Given the description of an element on the screen output the (x, y) to click on. 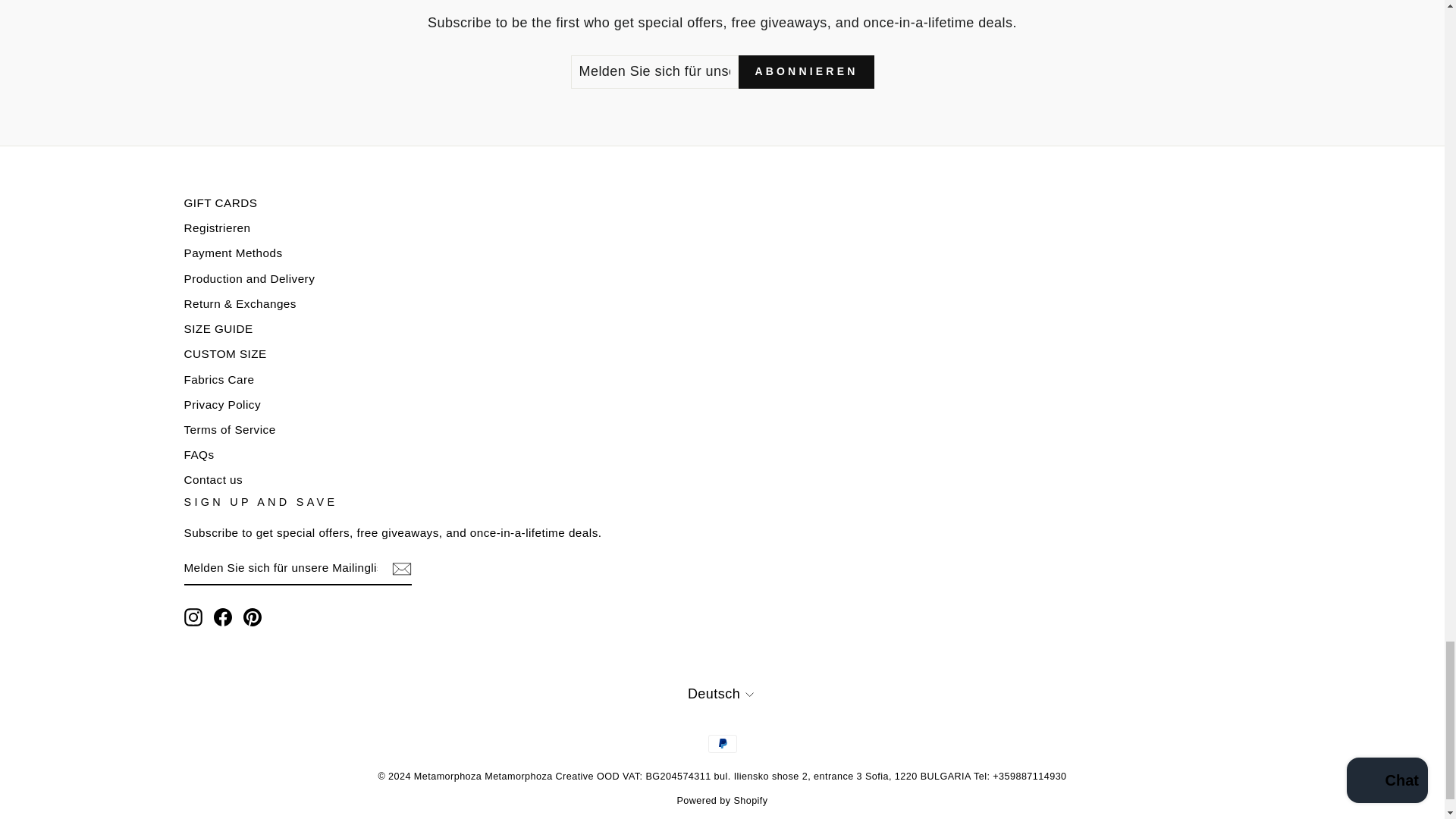
Metamorphoza auf Facebook (222, 617)
Metamorphoza auf Pinterest (251, 617)
Metamorphoza auf Instagram (192, 617)
